Given the description of an element on the screen output the (x, y) to click on. 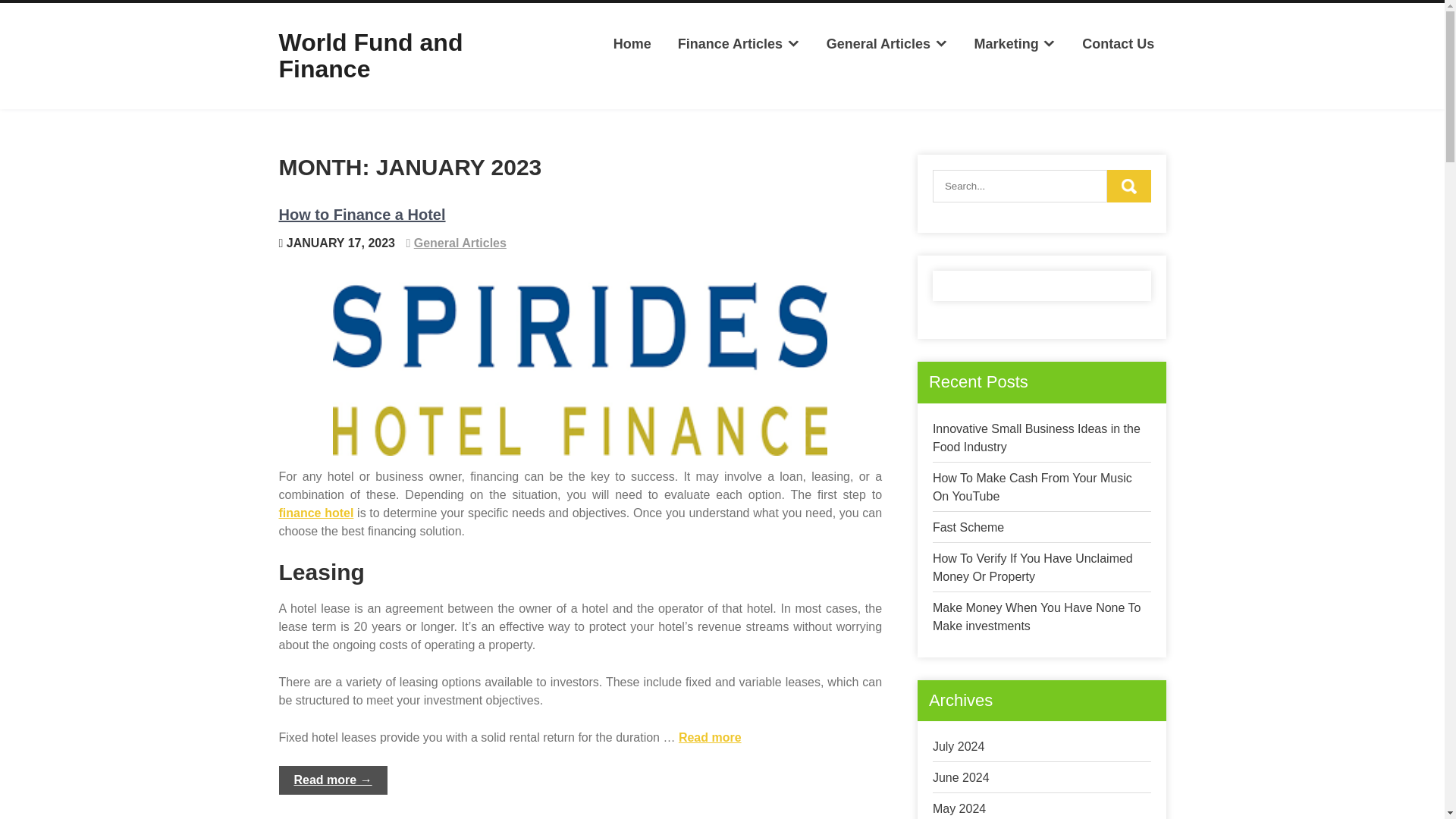
General Articles (886, 44)
Search (1128, 185)
Home (631, 44)
How to Finance a Hotel (362, 214)
World Fund and Finance (371, 55)
Marketing (1014, 44)
Contact Us (1118, 44)
Finance Articles (737, 44)
General Articles (459, 242)
Read more (709, 737)
